Given the description of an element on the screen output the (x, y) to click on. 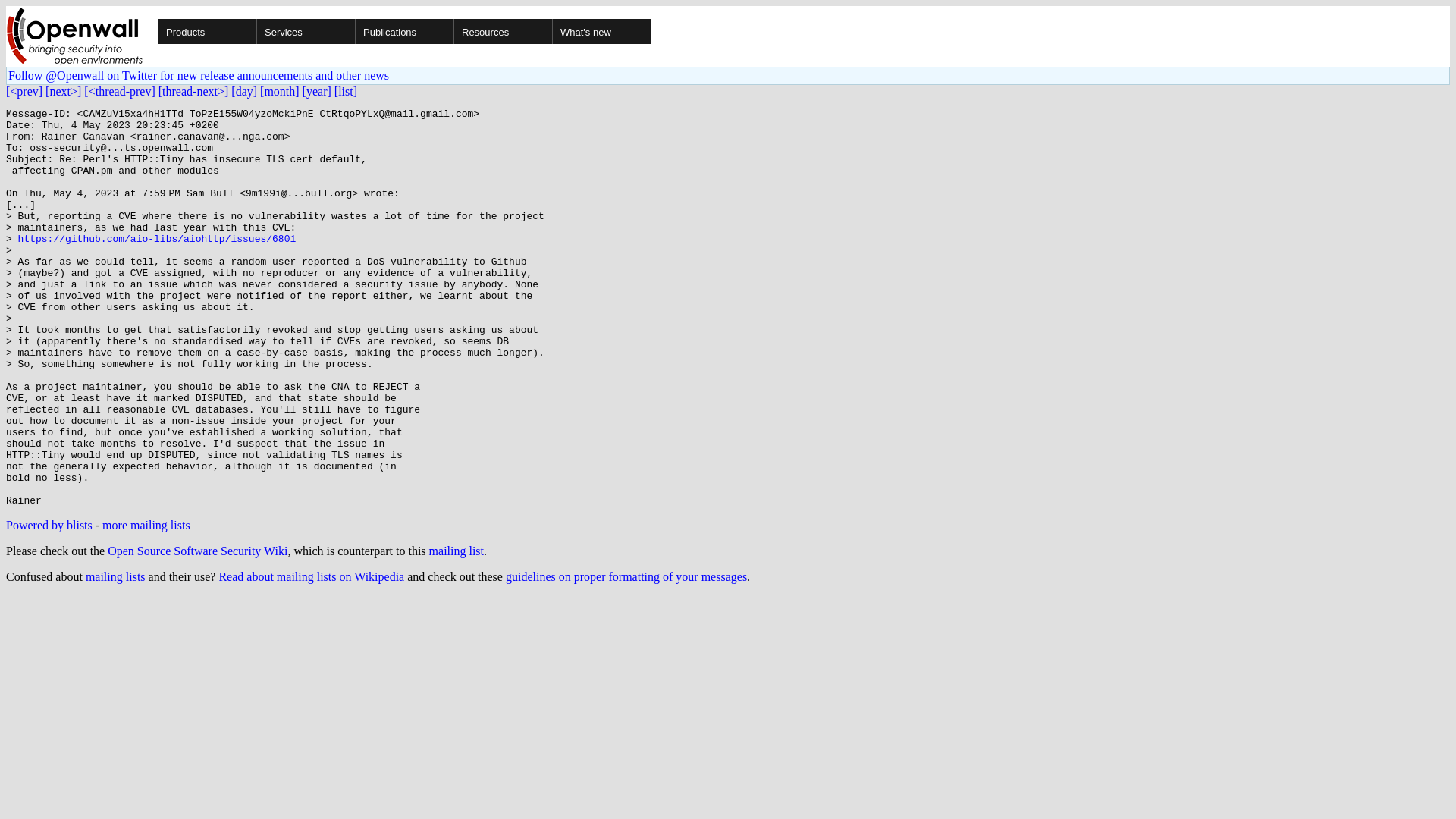
John the Ripper   password cracker (199, 65)
msulogin   single user mode login (195, 310)
passwdqc   policy enforcement (187, 146)
scanlogd   port scan detector (183, 269)
Wordlists   for password cracking (195, 133)
Pro for macOS (180, 119)
in the cloud (173, 92)
Articles (132, 365)
Products (103, 24)
popa3d   tiny POP3 daemon (181, 283)
Pluggable Authentication Modules (197, 256)
Mailing lists (143, 406)
Community wiki (154, 420)
How to verify digital signatures (190, 474)
tcb   better password shadowing (191, 242)
